Given the description of an element on the screen output the (x, y) to click on. 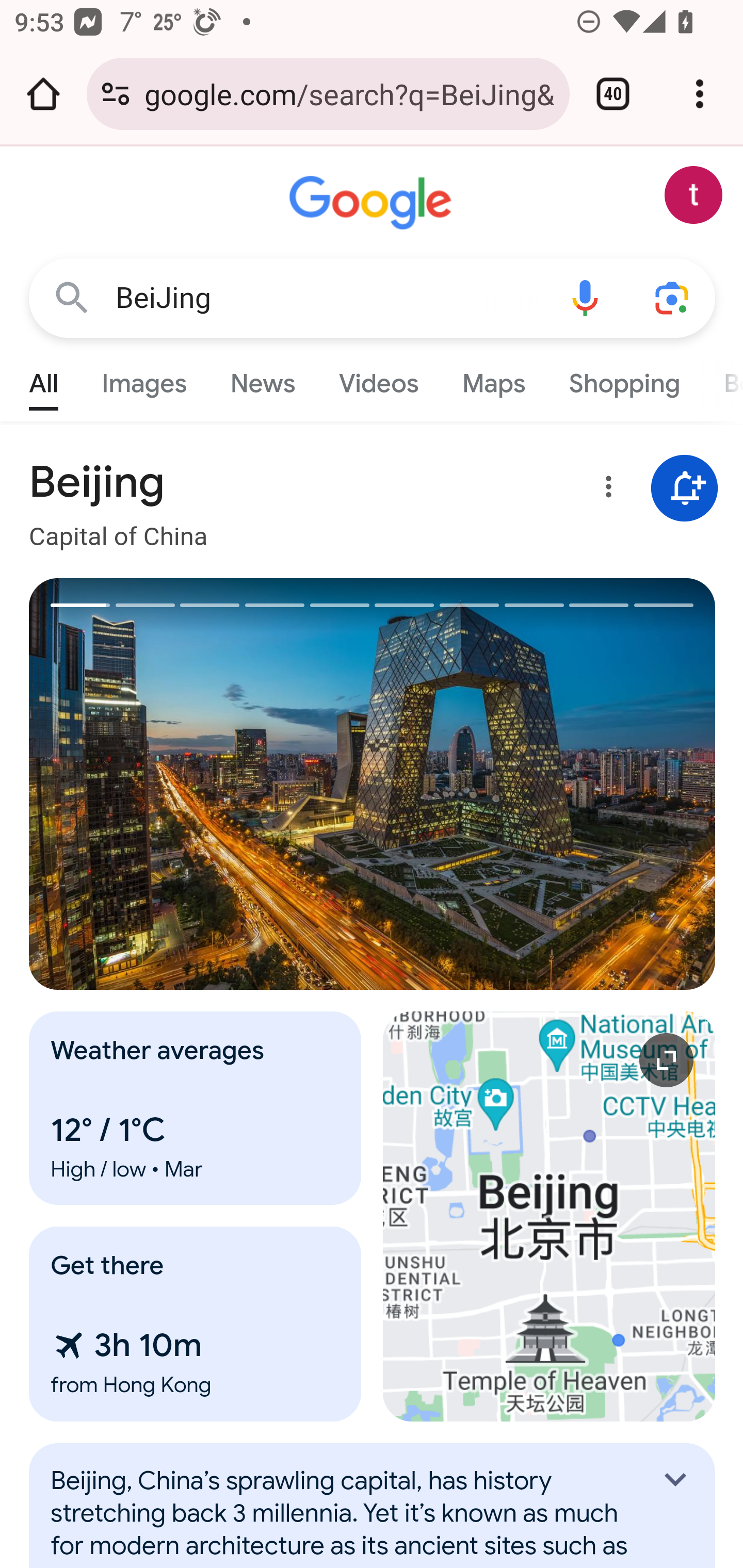
Open the home page (43, 93)
Connection is secure (115, 93)
Switch or close tabs (612, 93)
Customize and control Google Chrome (699, 93)
Google (372, 203)
Google Search (71, 296)
Search using your camera or photos (672, 296)
BeiJing (328, 297)
Images (144, 378)
News (262, 378)
Videos (378, 378)
Maps (493, 378)
Shopping (623, 378)
Get notifications about Beijing (684, 489)
More options (605, 489)
Previous image (200, 783)
Next image (544, 783)
Weather averages 12° / 1°C High / low • Mar (195, 1108)
Expand map (549, 1216)
